Given the description of an element on the screen output the (x, y) to click on. 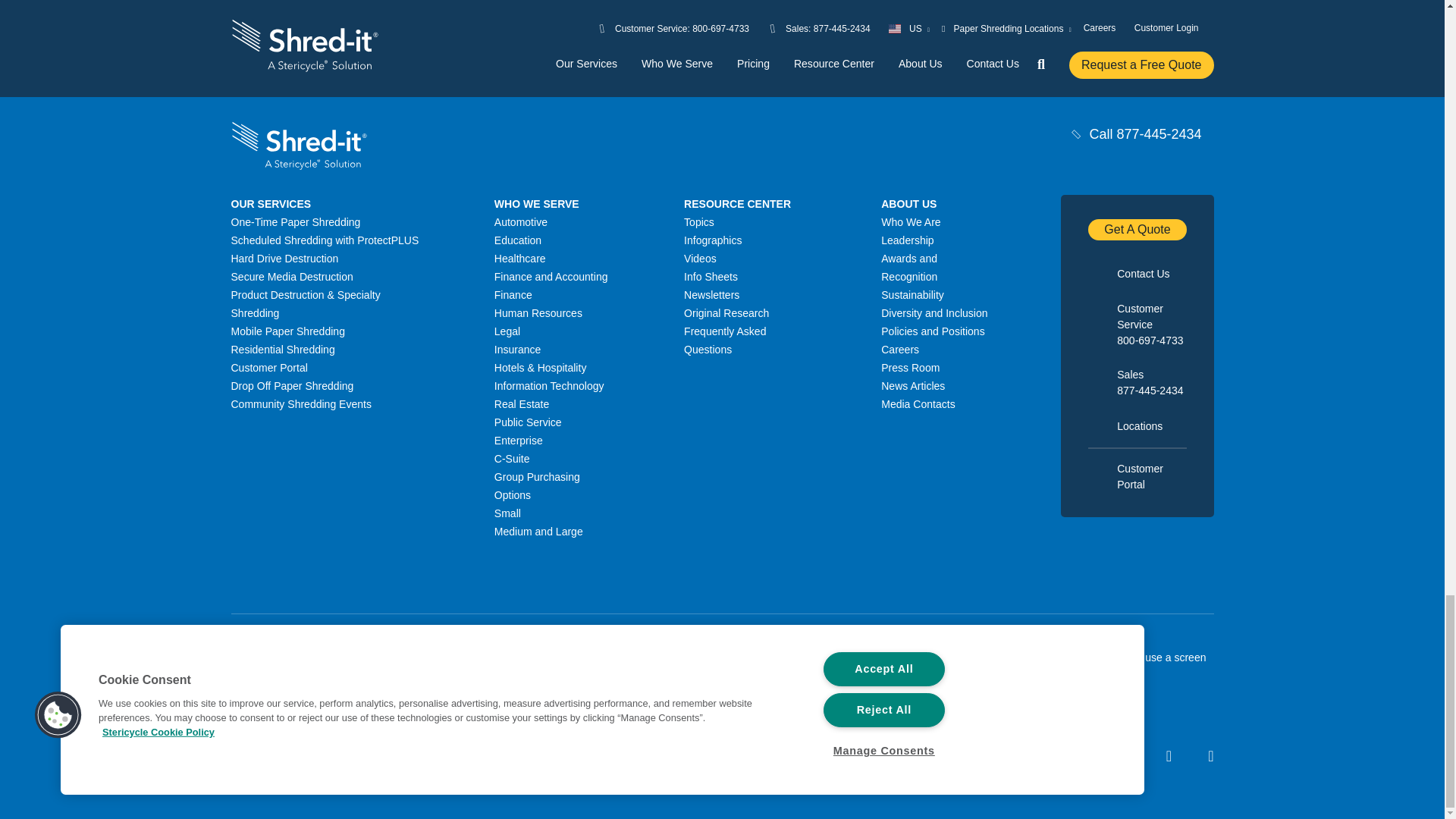
Please enter a valid email. (844, 11)
